Given the description of an element on the screen output the (x, y) to click on. 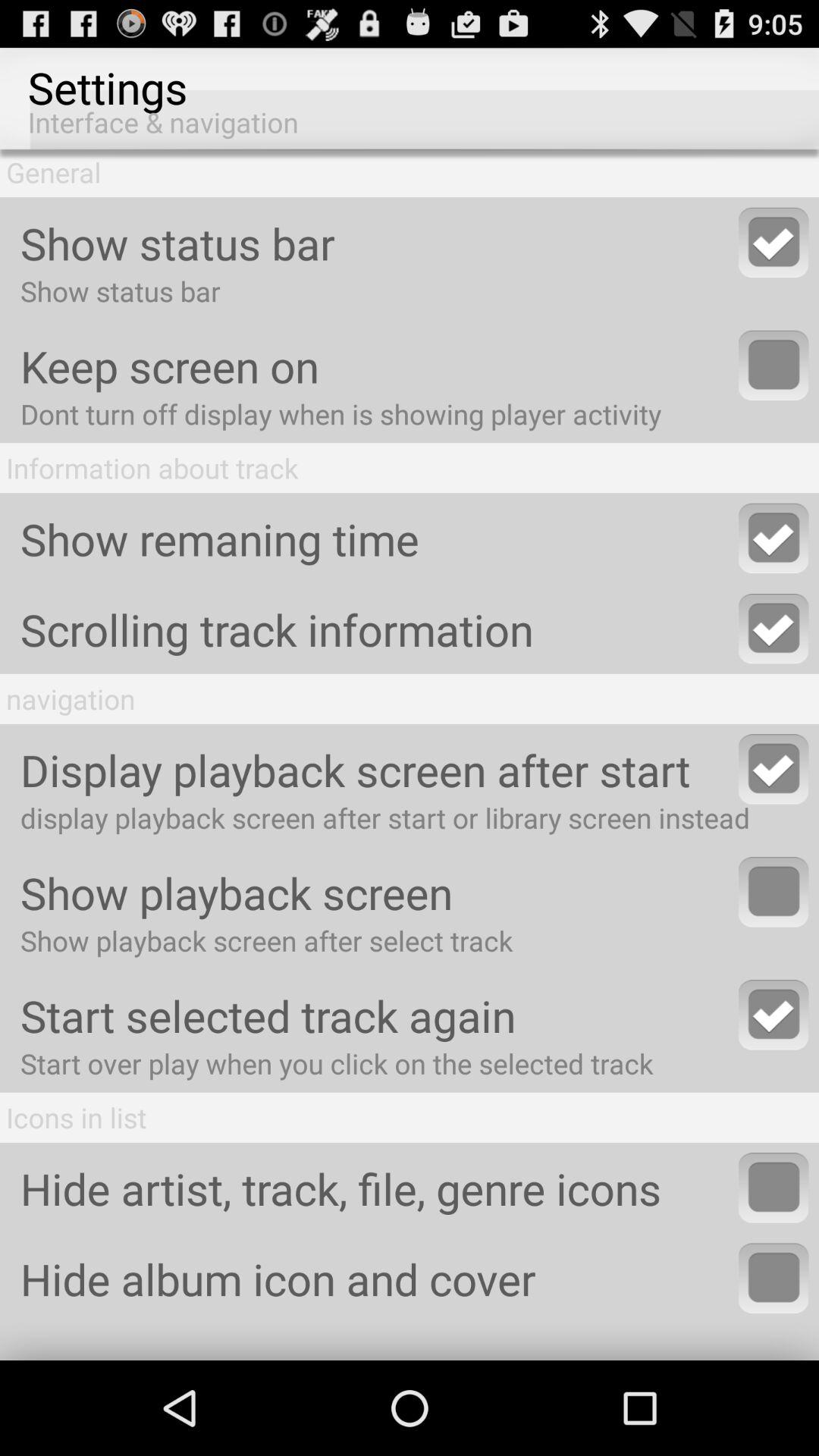
activate this option (773, 365)
